Given the description of an element on the screen output the (x, y) to click on. 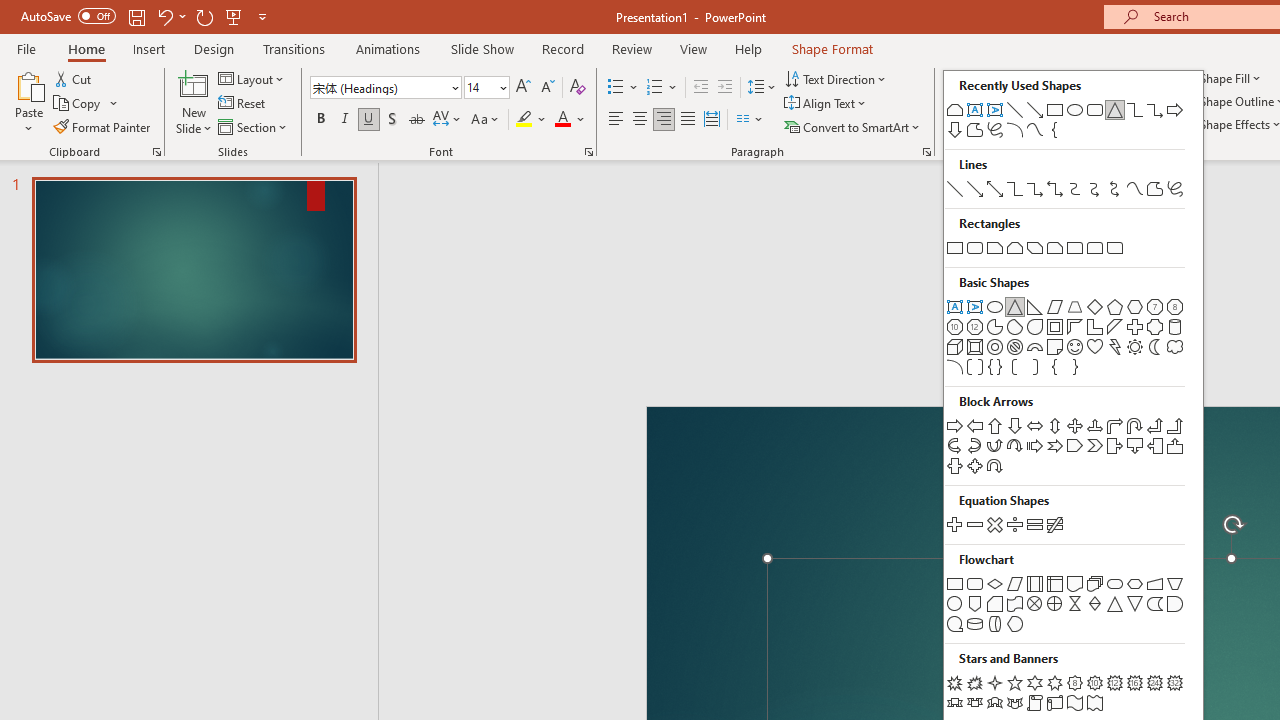
Align Left (616, 119)
Decrease Indent (700, 87)
Align Right (663, 119)
Paragraph... (926, 151)
Shape Format (832, 48)
Reset (243, 103)
Font... (588, 151)
